Given the description of an element on the screen output the (x, y) to click on. 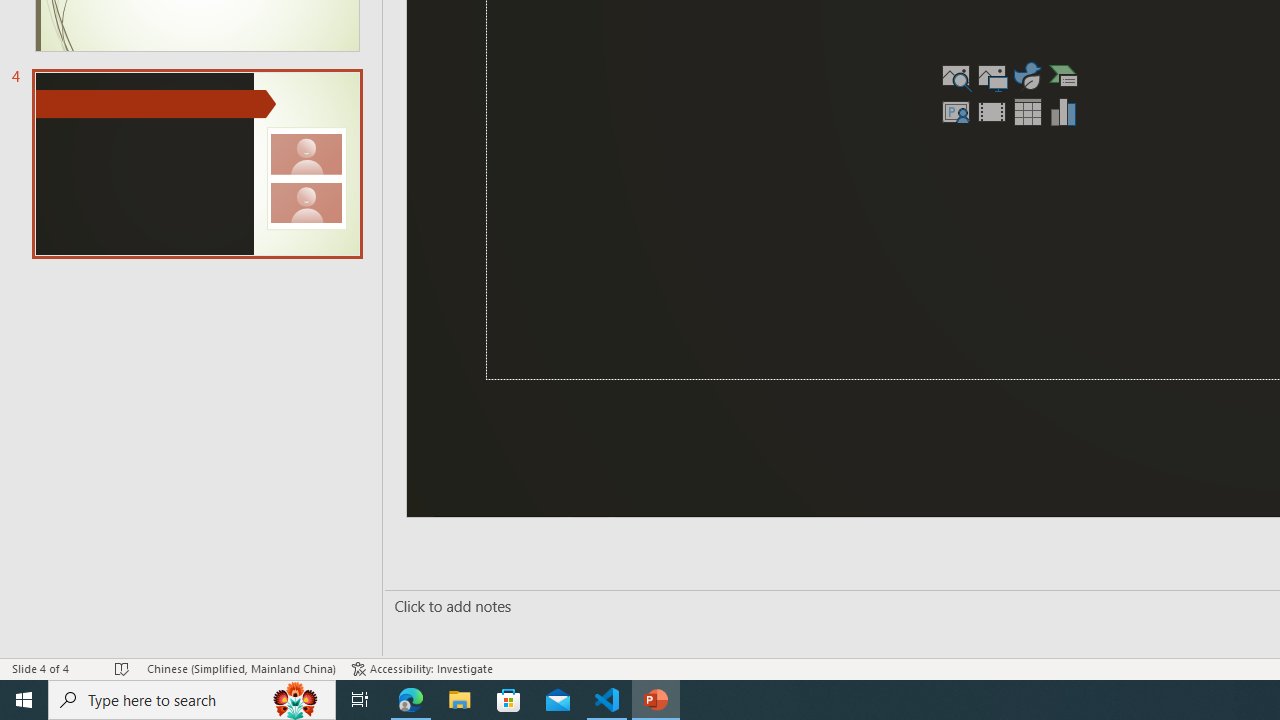
Insert a SmartArt Graphic (1064, 75)
Insert Video (991, 111)
Insert an Icon (1028, 75)
Stock Images (955, 75)
Pictures (991, 75)
Slide (196, 163)
Accessibility Checker Accessibility: Investigate (422, 668)
Spell Check No Errors (123, 668)
Insert Table (1028, 111)
Insert Chart (1064, 111)
Insert Cameo (955, 111)
